Given the description of an element on the screen output the (x, y) to click on. 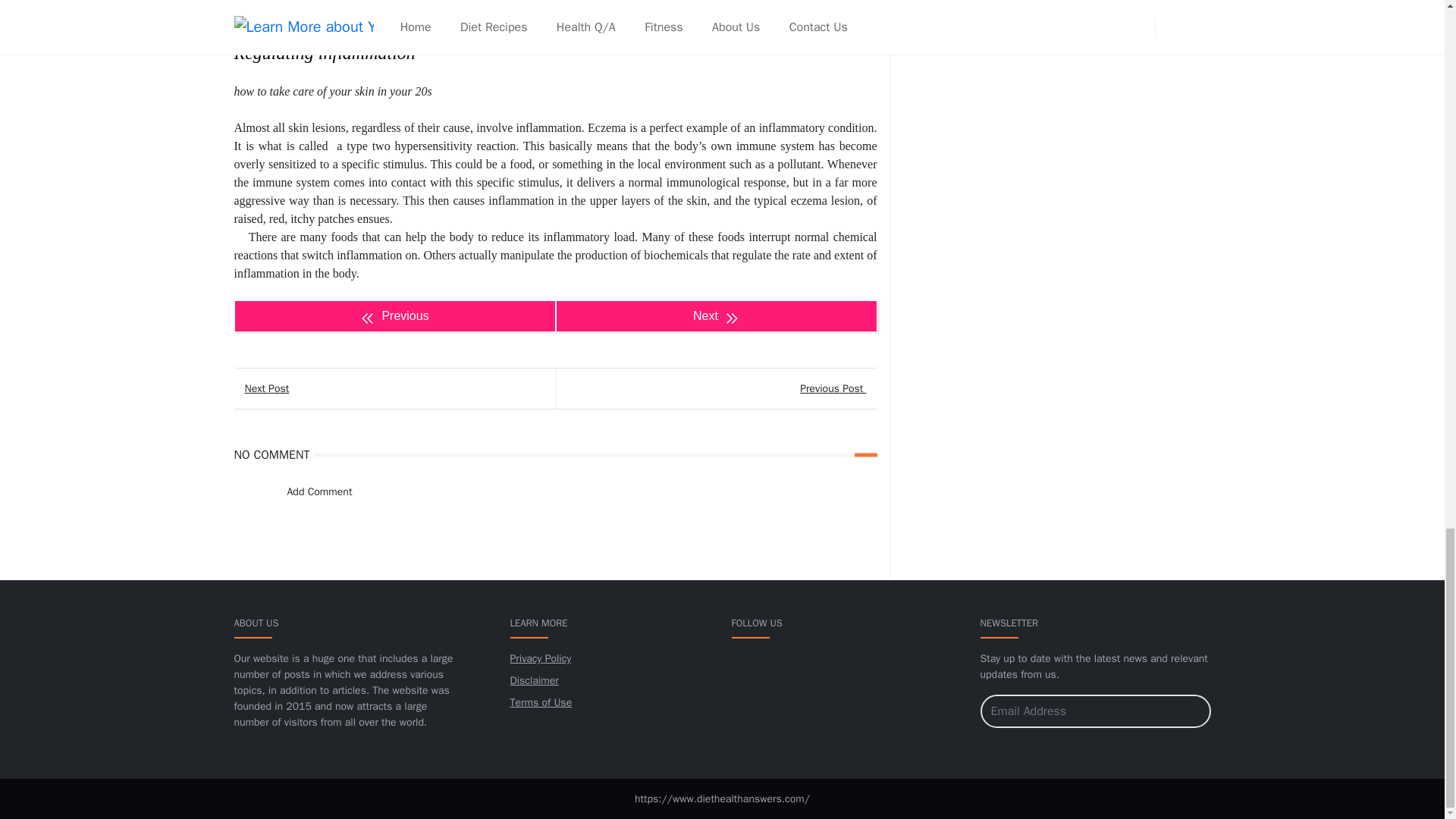
Next (715, 316)
Previous Post (715, 388)
Next Post (393, 388)
Add Comment (311, 490)
Privacy Policy (539, 658)
Previous (393, 316)
